Given the description of an element on the screen output the (x, y) to click on. 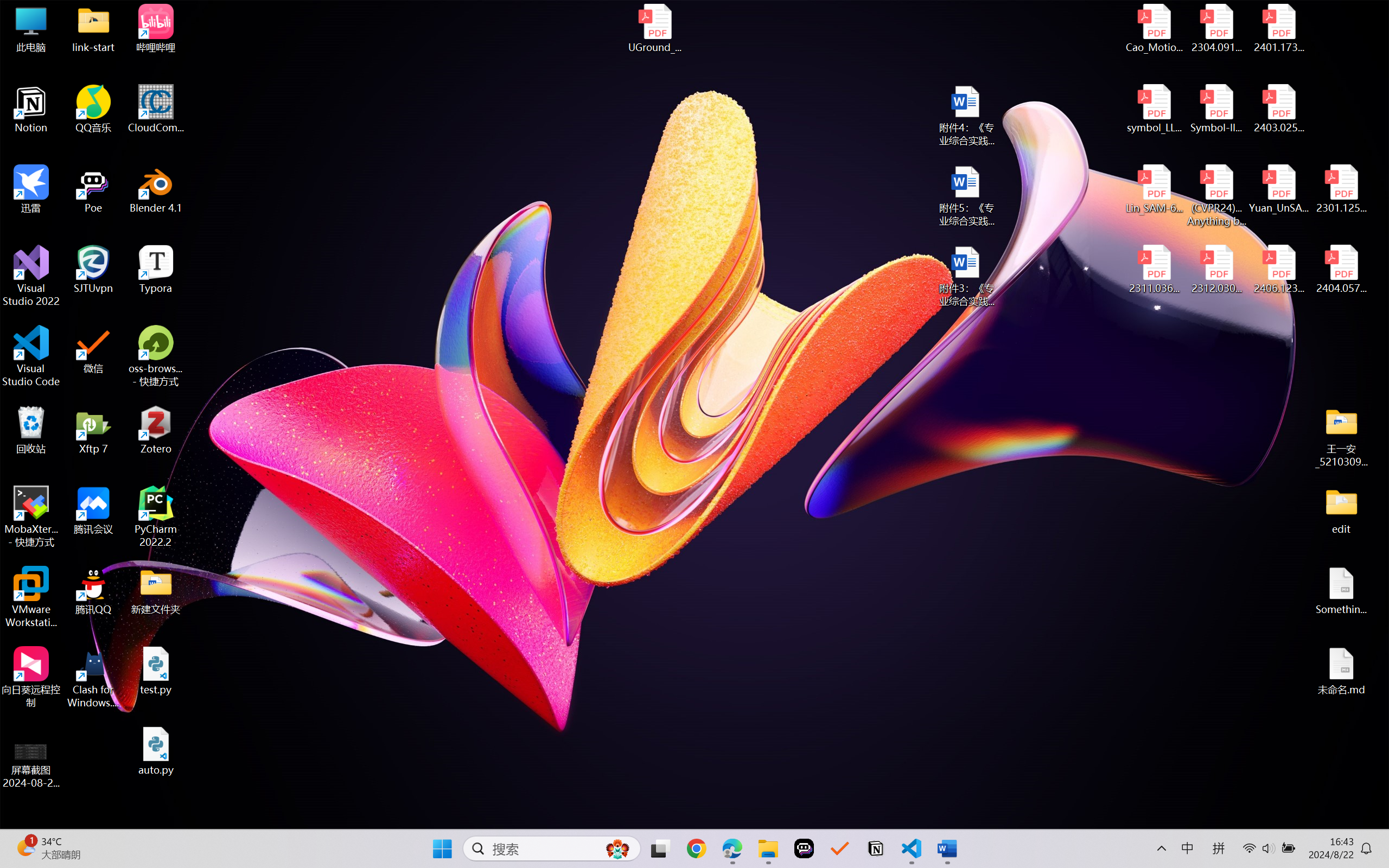
Xftp 7 (93, 430)
2403.02502v1.pdf (1278, 109)
2301.12597v3.pdf (1340, 189)
2406.12373v2.pdf (1278, 269)
2311.03658v2.pdf (1154, 269)
2312.03032v2.pdf (1216, 269)
